Given the description of an element on the screen output the (x, y) to click on. 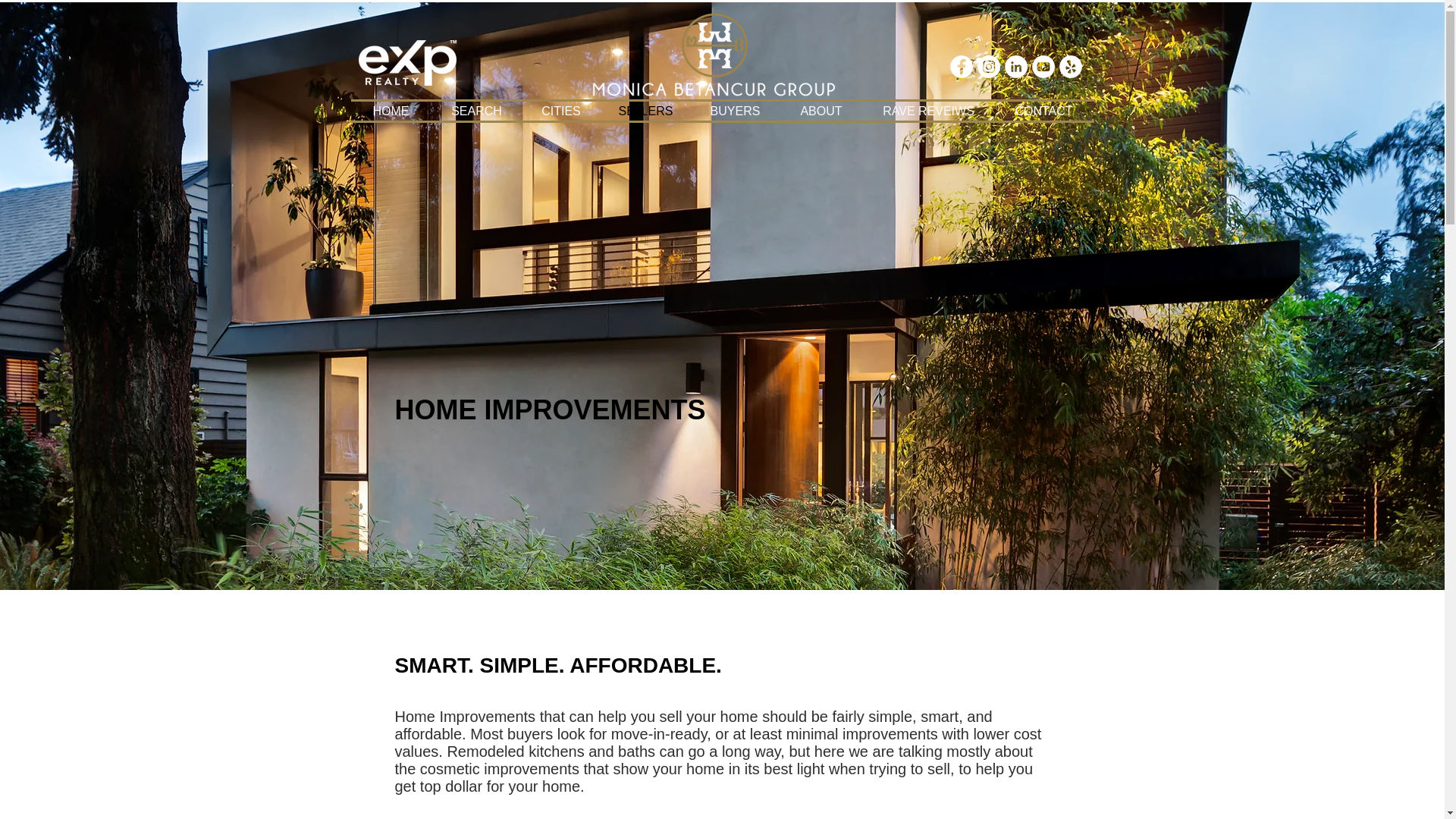
ABOUT (820, 110)
SELLERS (645, 110)
SEARCH (475, 110)
HOME (390, 110)
CONTACT (1042, 110)
RAVE REVEIWS (927, 110)
BUYERS (734, 110)
